Given the description of an element on the screen output the (x, y) to click on. 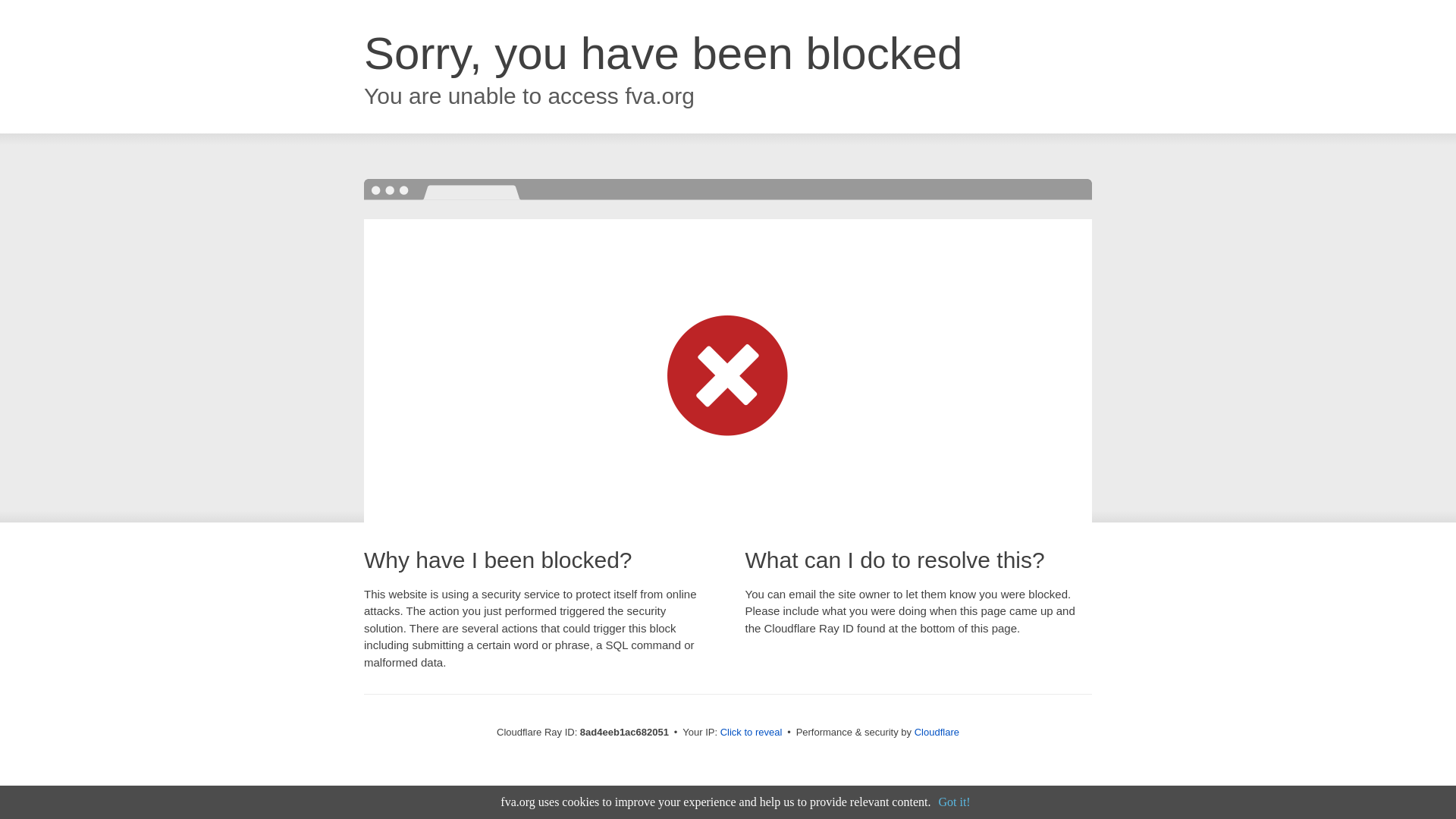
Click to reveal (751, 732)
Cloudflare (936, 731)
